Given the description of an element on the screen output the (x, y) to click on. 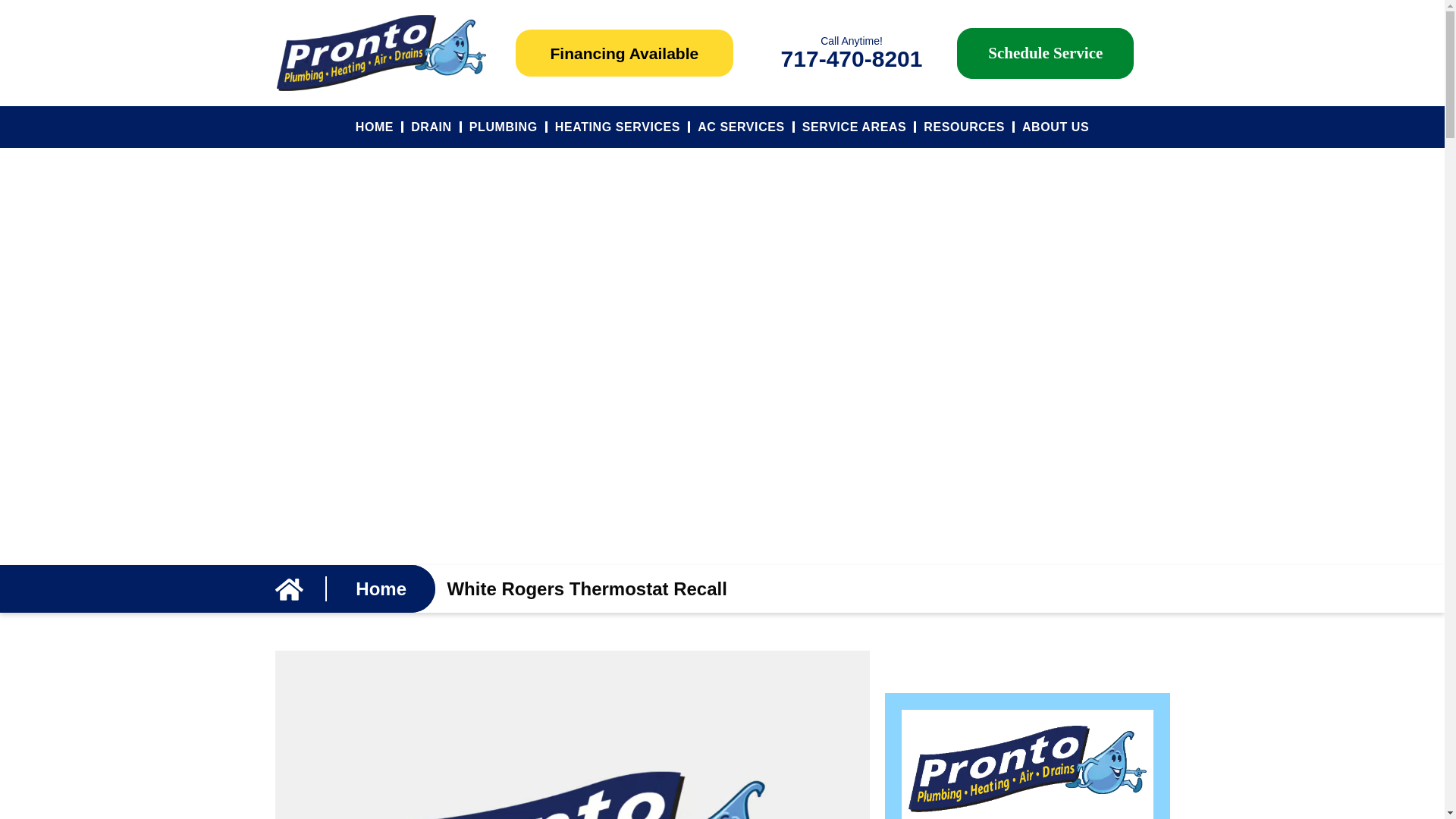
Call Anytime! (851, 40)
AC SERVICES (741, 126)
717-470-8201 (851, 58)
PLUMBING (502, 126)
HEATING SERVICES (617, 126)
Financing Available (624, 52)
Schedule Service (1045, 52)
HOME (374, 126)
DRAIN (431, 126)
